Given the description of an element on the screen output the (x, y) to click on. 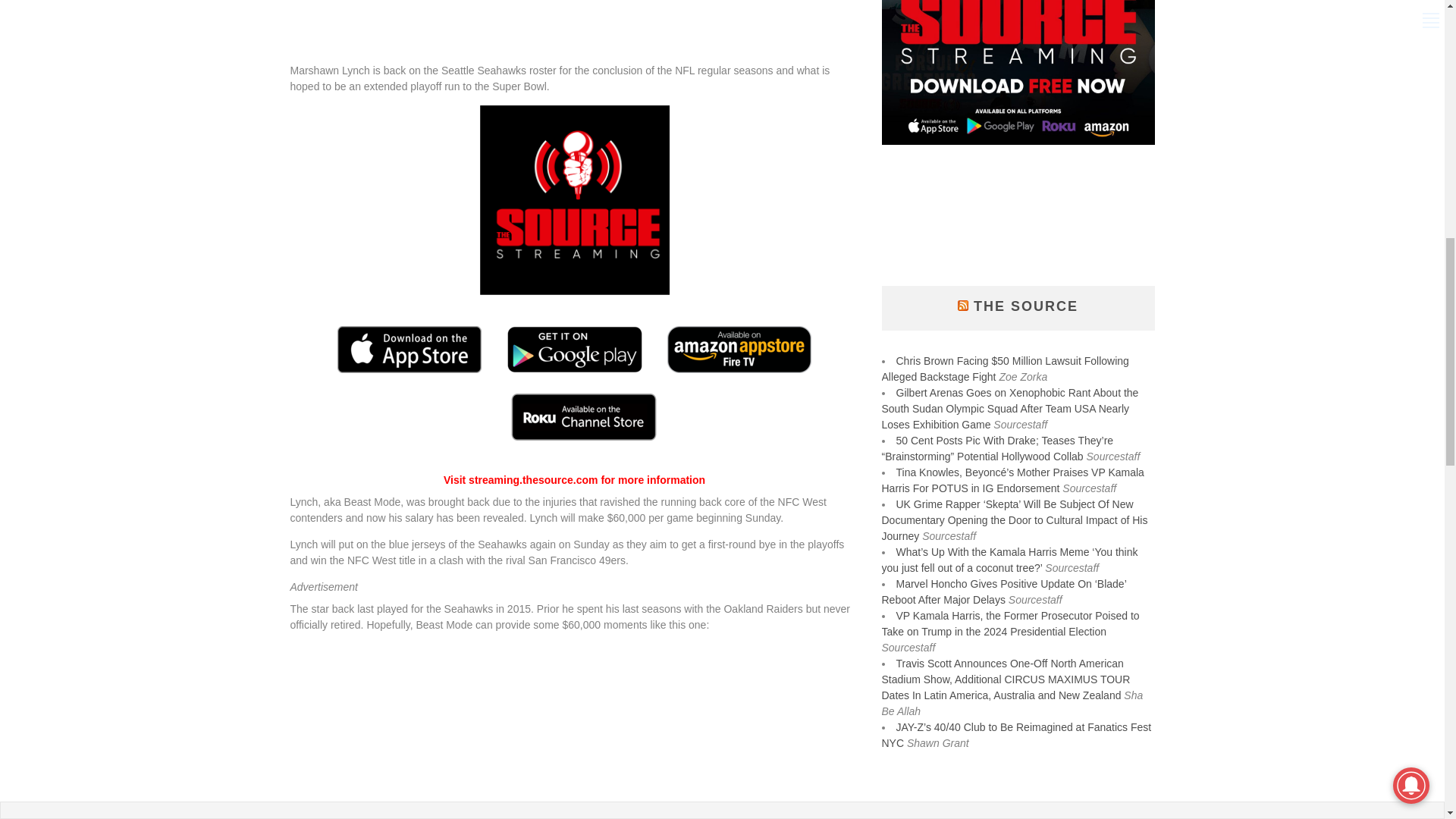
Visit streaming.thesource.com for more information (574, 480)
